Given the description of an element on the screen output the (x, y) to click on. 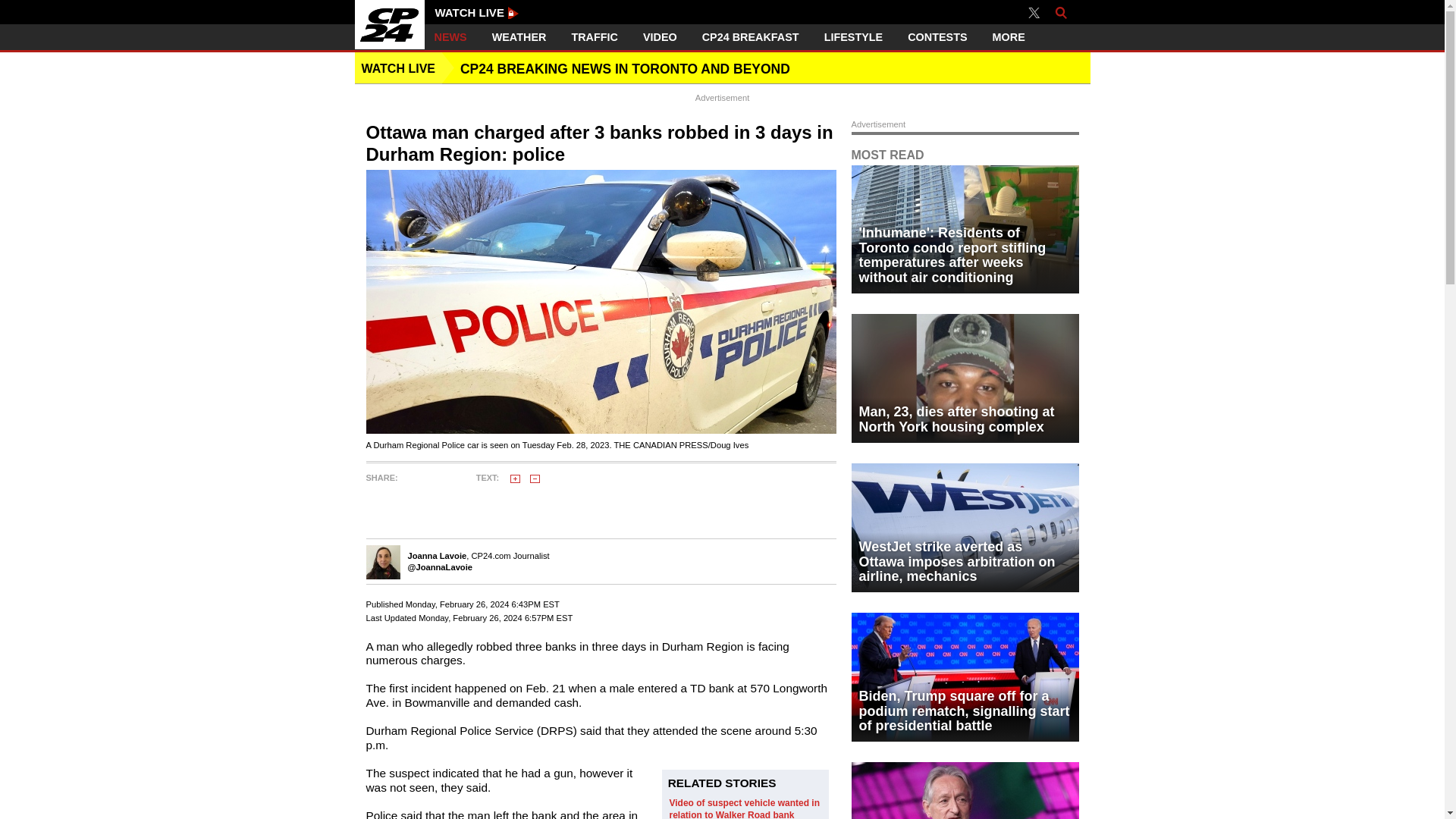
CP24.com (390, 24)
WATCH LIVE (477, 11)
CONTESTS (936, 37)
WEATHER (519, 37)
Contests (936, 37)
Weather (519, 37)
